Given the description of an element on the screen output the (x, y) to click on. 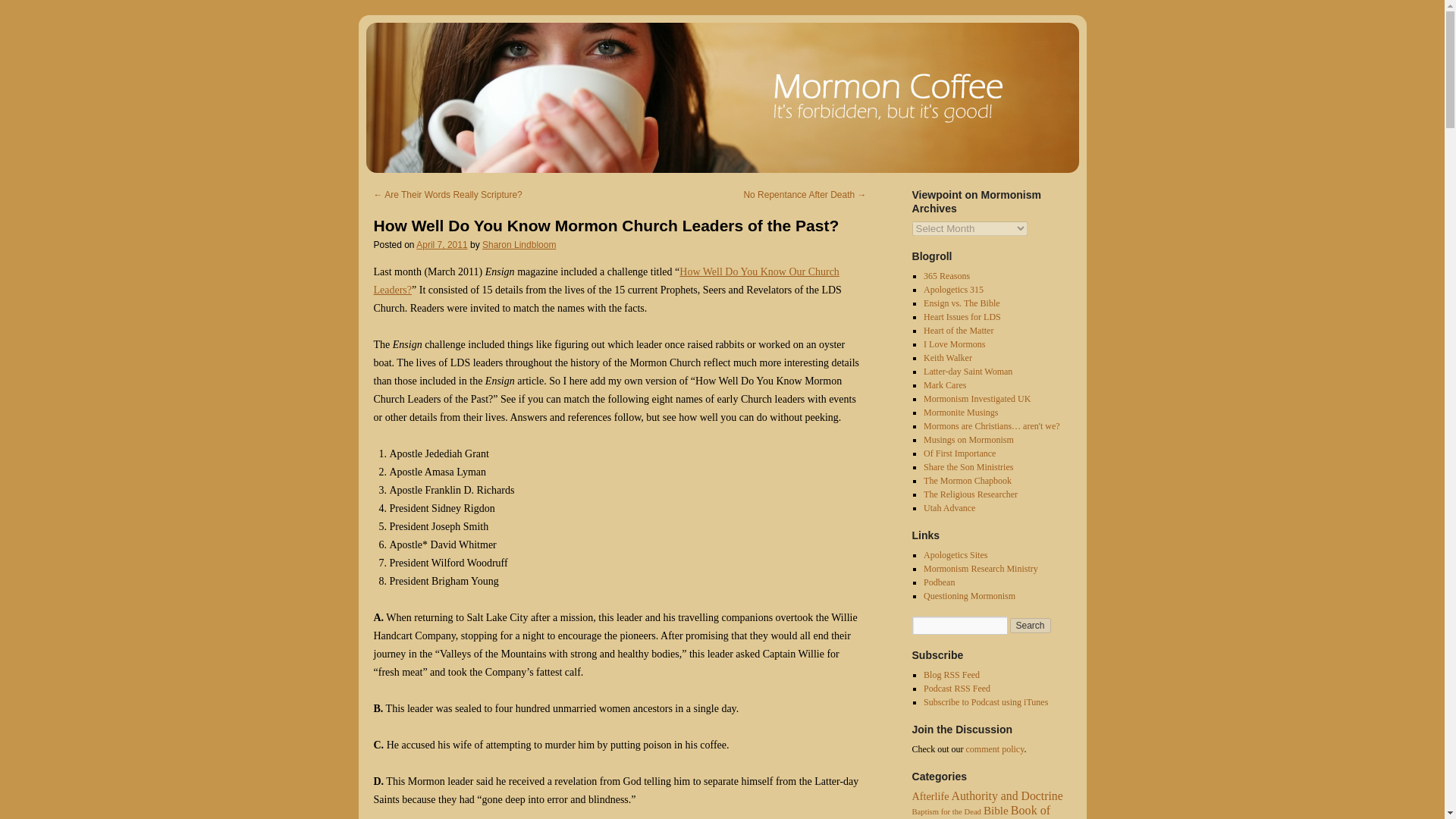
View all posts by Sharon Lindbloom (518, 244)
Search (1030, 625)
Sharon Lindbloom (518, 244)
How Well Do You Know Our Church Leaders? (605, 280)
7:00 am (441, 244)
Viewpoint on Mormonism shows on Podbean (939, 582)
April 7, 2011 (441, 244)
